Given the description of an element on the screen output the (x, y) to click on. 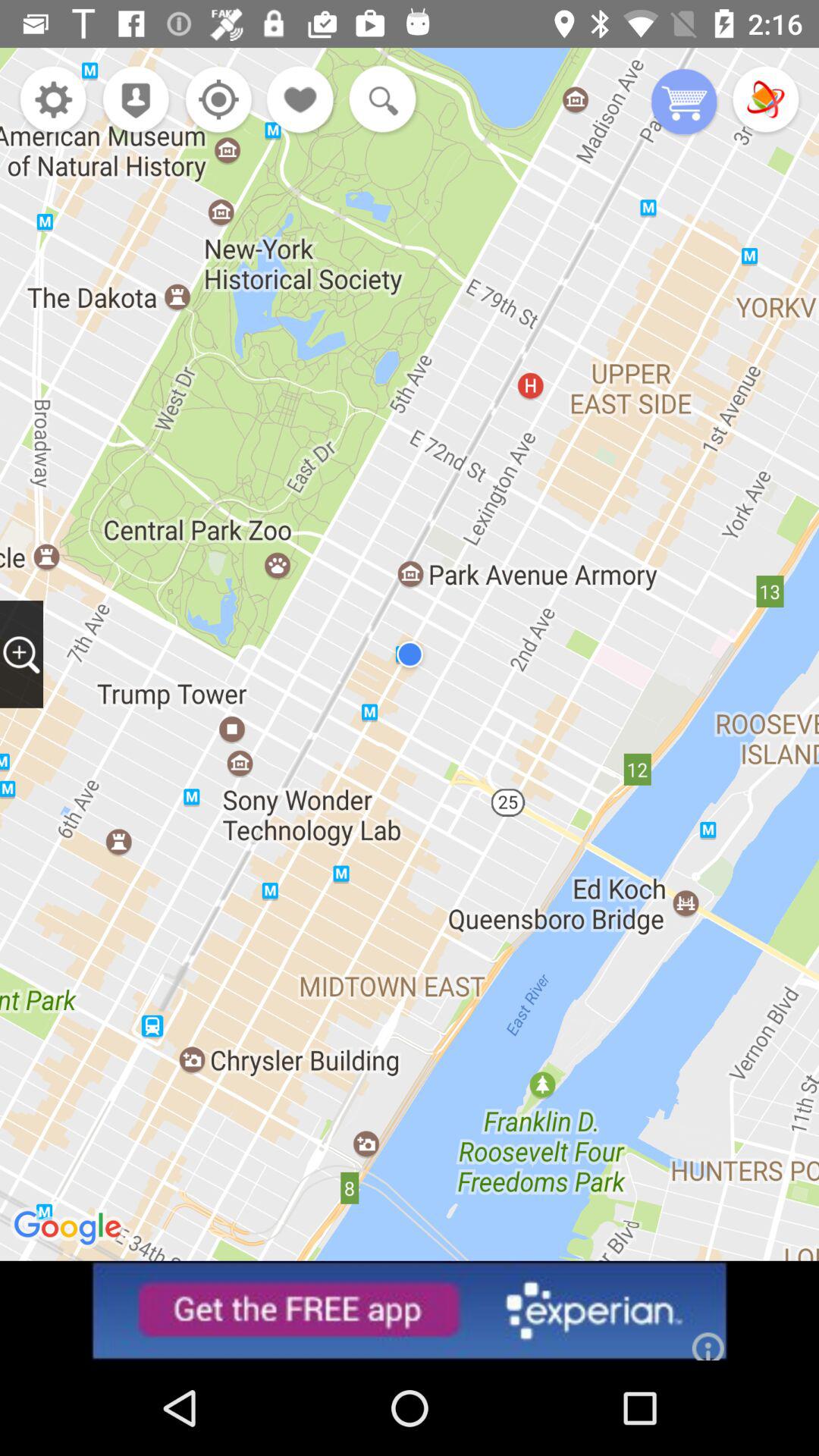
advertisement button (409, 1310)
